Given the description of an element on the screen output the (x, y) to click on. 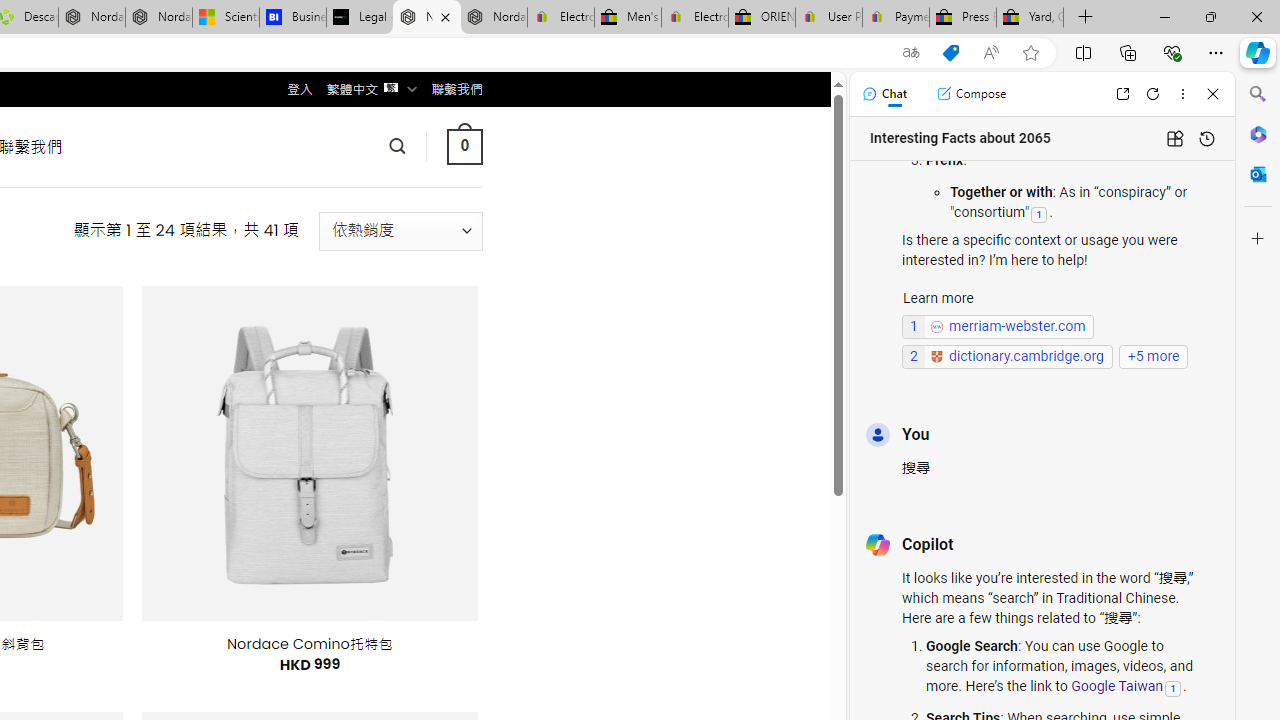
Show translate options (910, 53)
Chat (884, 93)
Yard, Garden & Outdoor Living (1030, 17)
Compose (971, 93)
User Privacy Notice | eBay (828, 17)
